Given the description of an element on the screen output the (x, y) to click on. 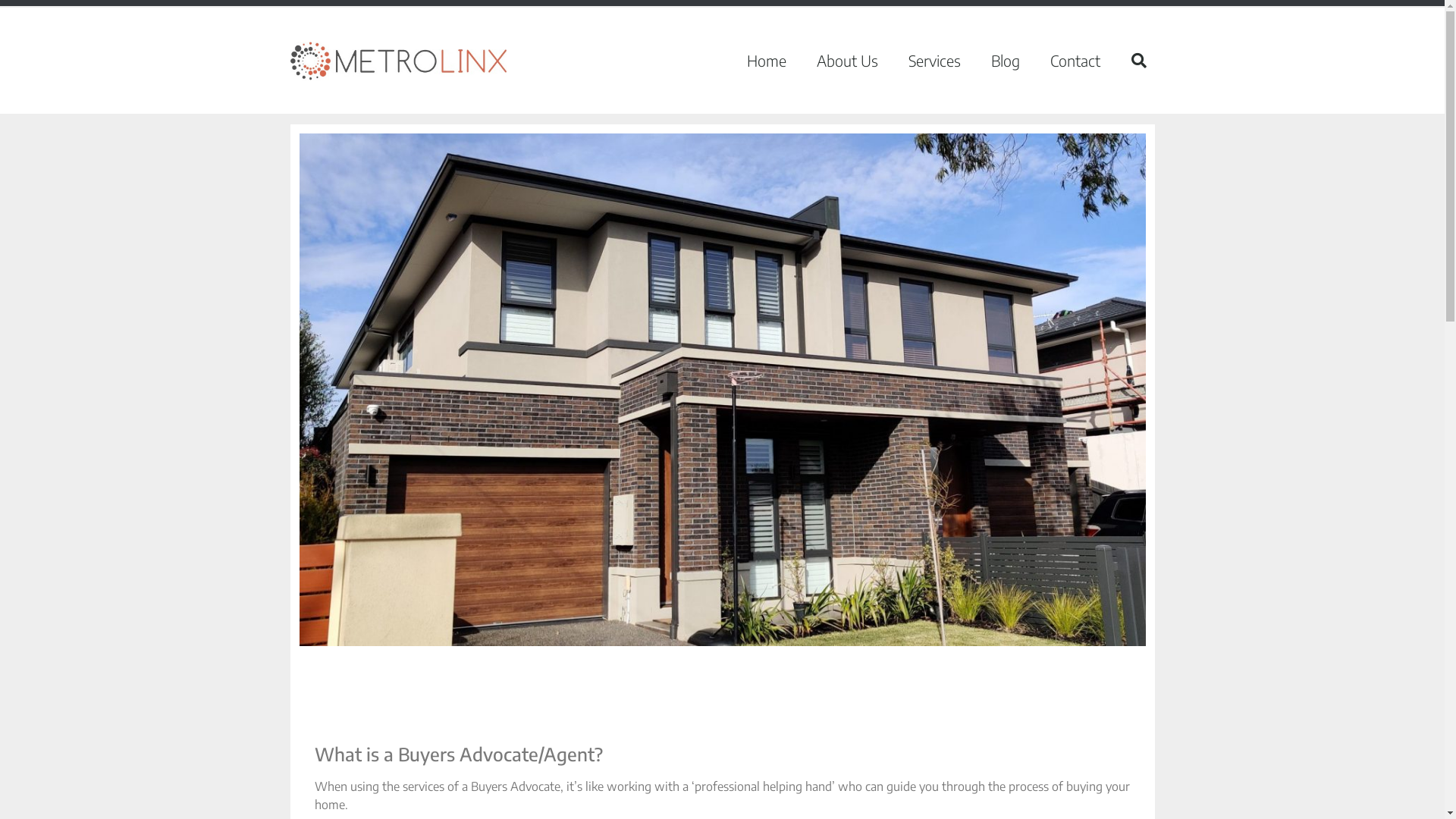
Services Element type: text (934, 60)
About Us Element type: text (846, 60)
Contact Element type: text (1074, 60)
townhouse Element type: hover (721, 389)
Blog Element type: text (1004, 60)
Home Element type: text (765, 60)
